Given the description of an element on the screen output the (x, y) to click on. 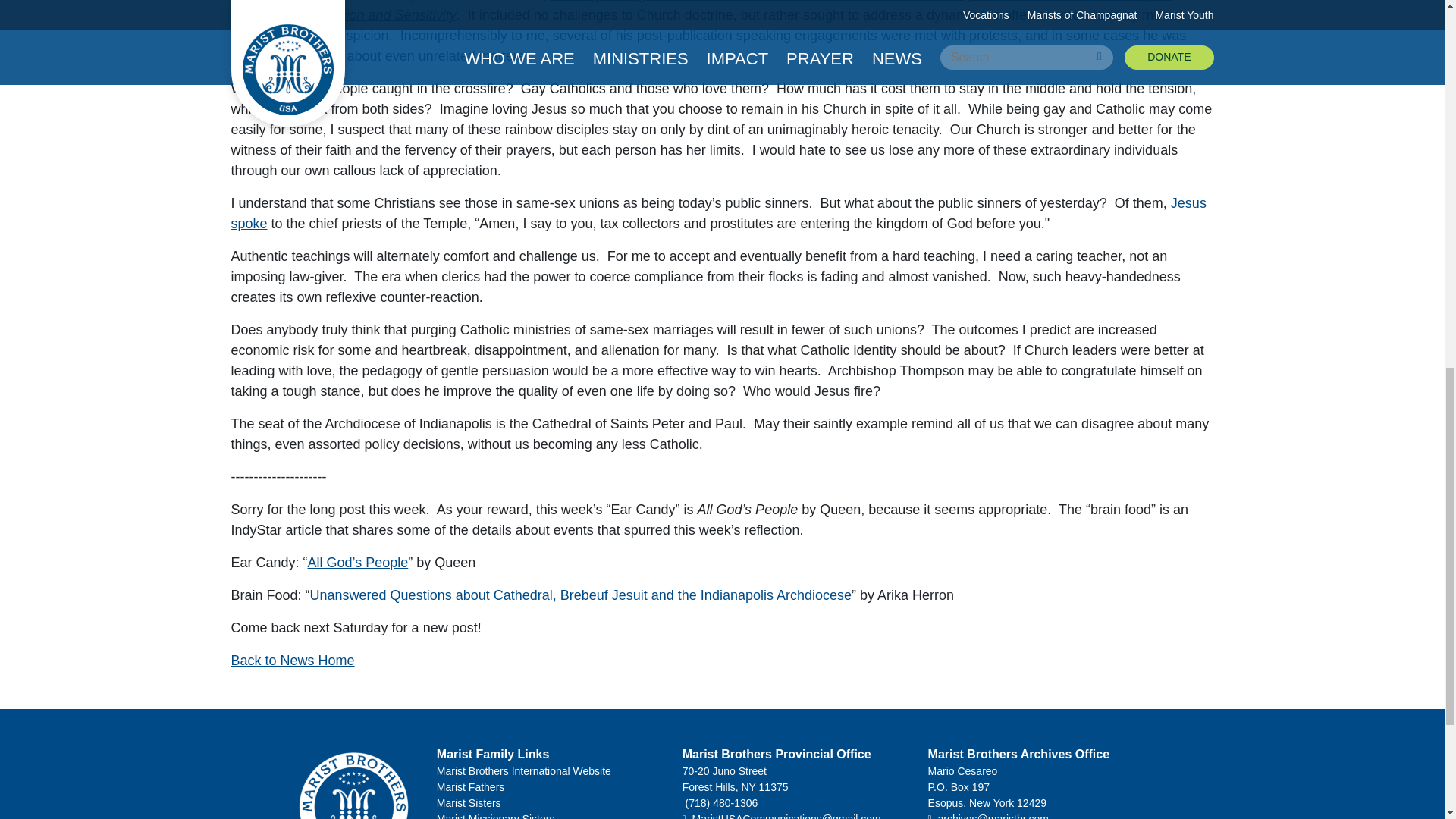
Jesus spoke (717, 212)
Marist Brothers International Website (550, 771)
Marist Missionary Sisters (550, 815)
Marist Sisters (550, 803)
Marist Fathers (550, 787)
Back to News Home (291, 660)
